Given the description of an element on the screen output the (x, y) to click on. 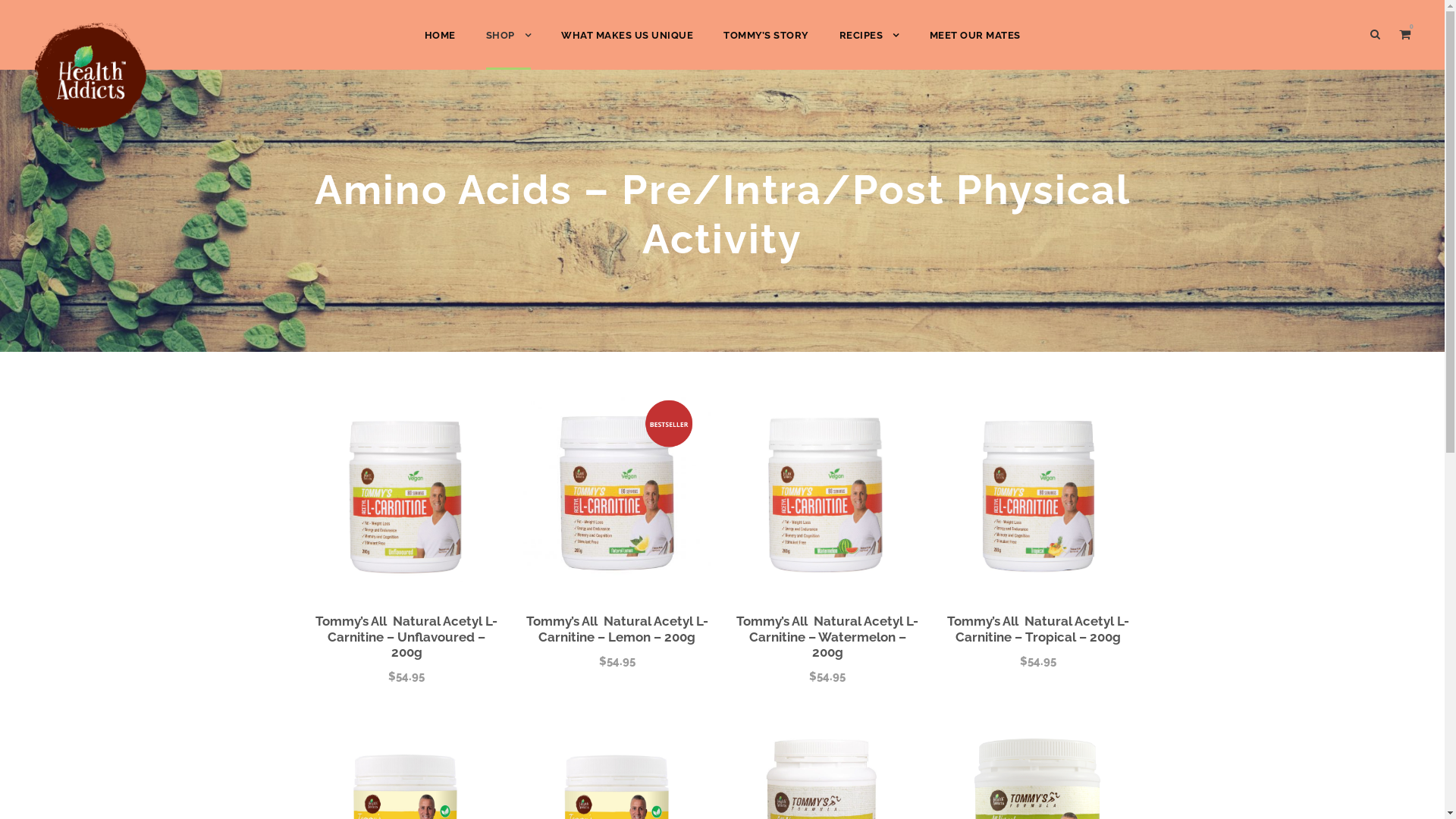
Twitter Element type: hover (933, 672)
SHOP Element type: text (507, 48)
CORRECT L Carnitine Watermelon 200g (1) Element type: hover (828, 491)
CORRECT L Carnitine Unflavoured 200g Element type: hover (406, 491)
logo Element type: hover (90, 77)
cartinine best seller Element type: hover (617, 491)
Meet our Mates Element type: text (364, 673)
Cart Element type: text (546, 594)
WHAT MAKES US UNIQUE Element type: text (627, 48)
SmoothieLicious Recipes Element type: text (389, 647)
HOME Element type: text (340, 566)
Terms & Conditions Element type: text (586, 647)
RECIPES Element type: text (868, 48)
TWEAK GEEK IT Element type: text (1079, 807)
Facebook Element type: hover (895, 672)
Instagram Element type: hover (969, 672)
Contact Us Element type: text (353, 727)
SHOP Element type: text (550, 566)
CORRECT L Carnitine Tropical 200g (1) Element type: hover (1038, 491)
MEET OUR MATES Element type: text (974, 48)
Privacy Policy Element type: text (570, 673)
What Makes Us Unique Element type: text (382, 620)
My Account Element type: text (564, 620)
HOME Element type: text (439, 48)
